Given the description of an element on the screen output the (x, y) to click on. 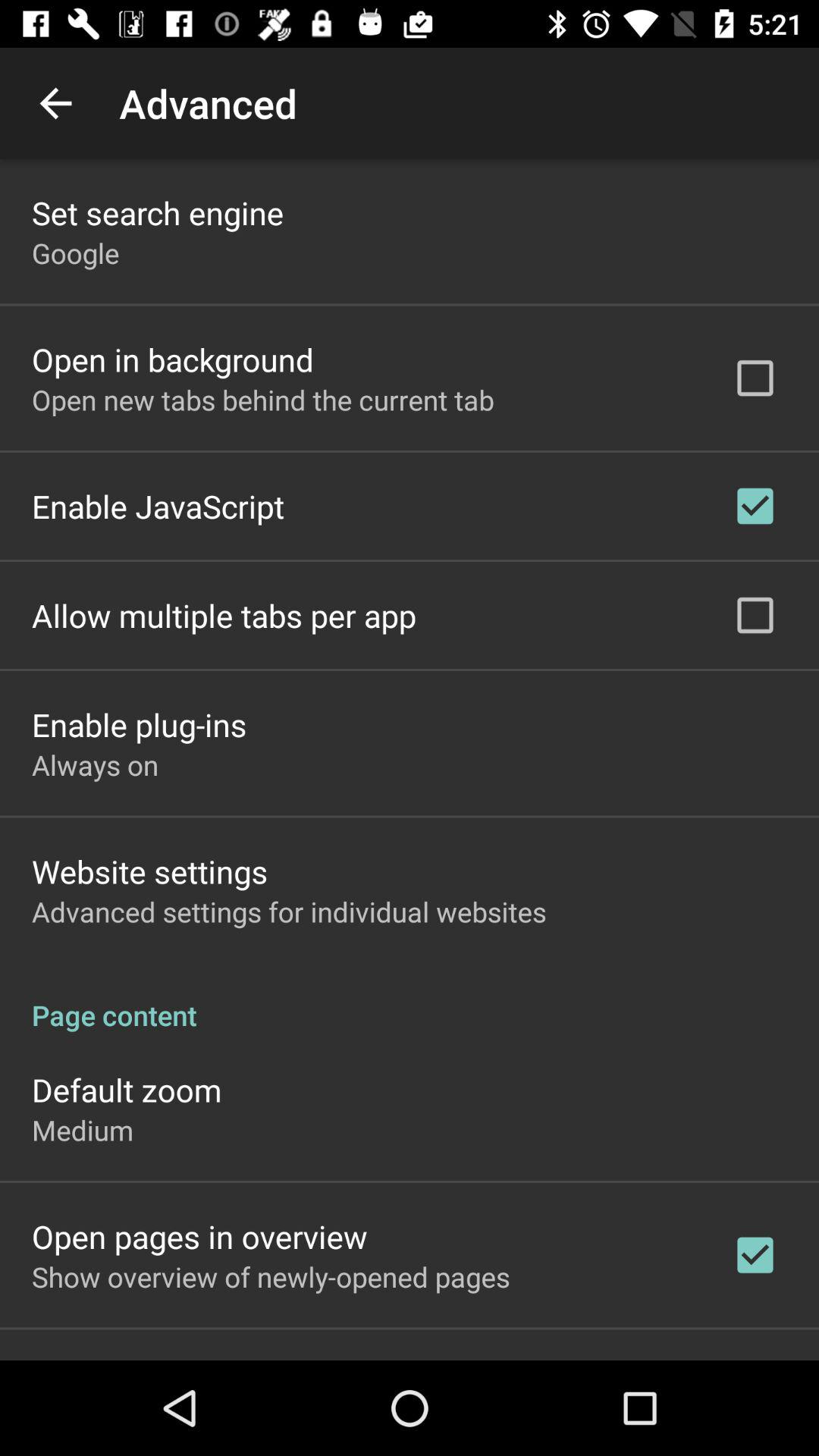
select page content item (409, 998)
